Given the description of an element on the screen output the (x, y) to click on. 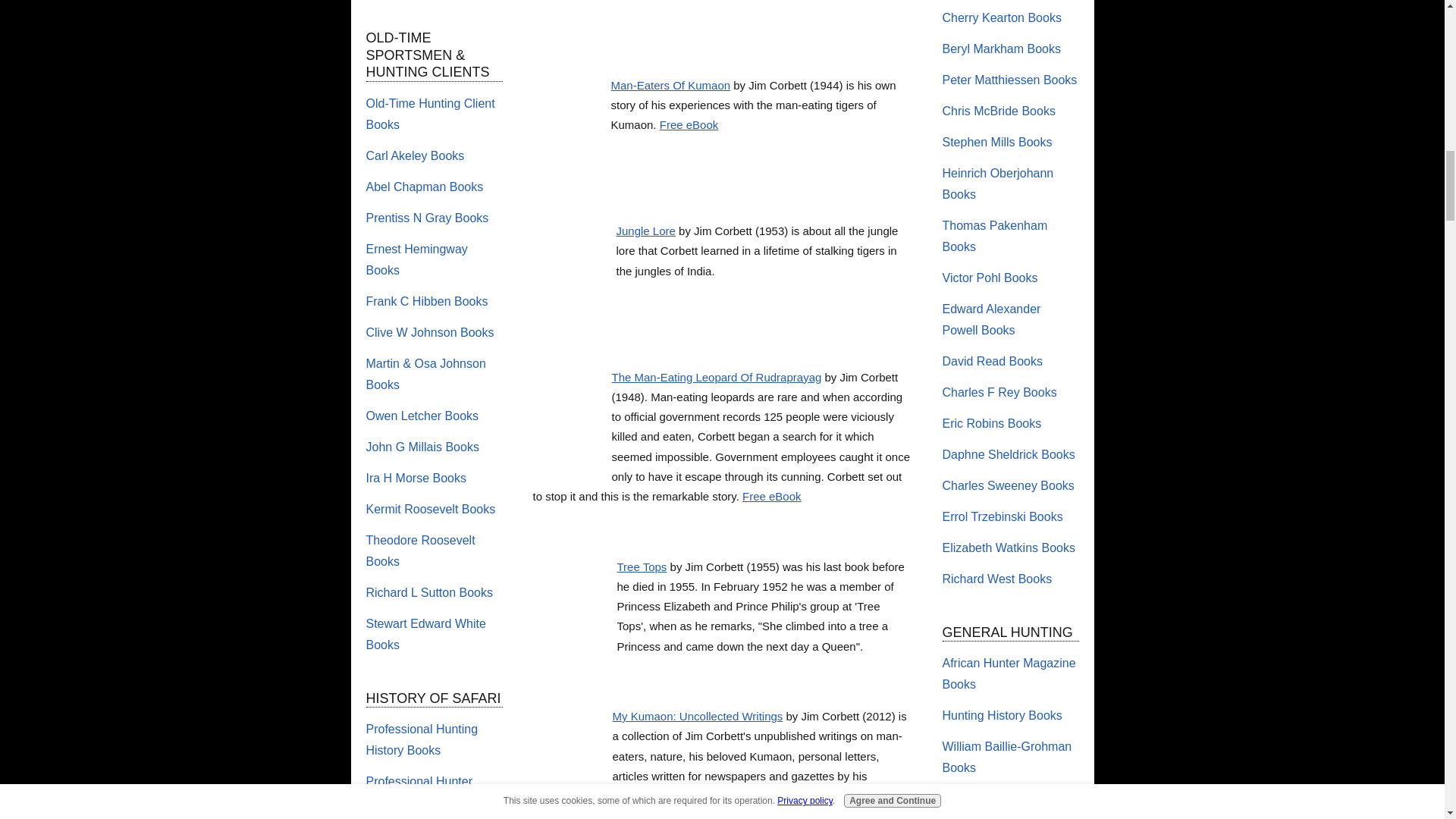
Free eBook (689, 124)
More Man-Eaters Of Kumaon (569, 20)
Man-Eaters Of Kumaon (670, 84)
Jungle Lore (645, 230)
